Given the description of an element on the screen output the (x, y) to click on. 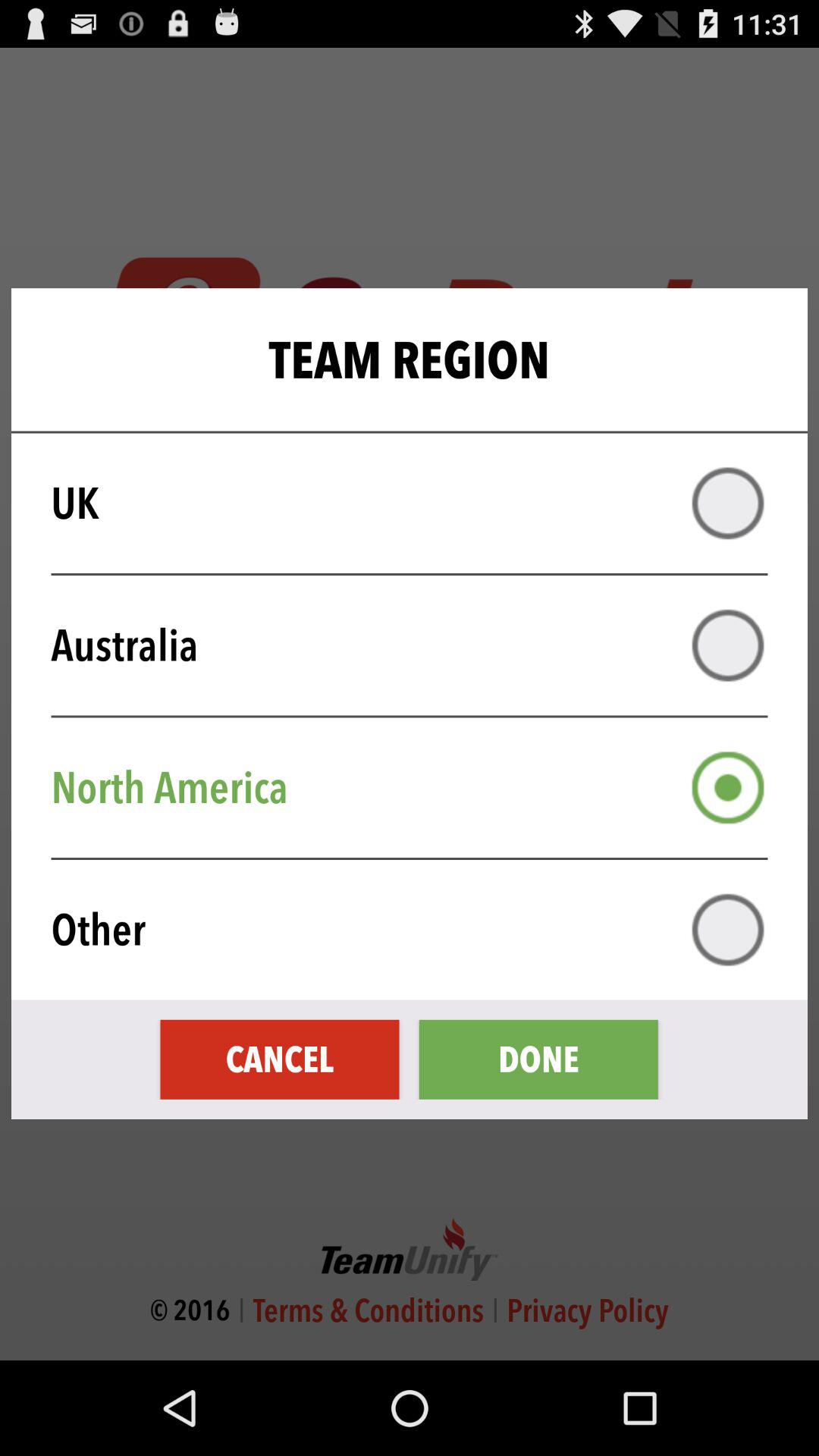
select icon below the other (538, 1059)
